Given the description of an element on the screen output the (x, y) to click on. 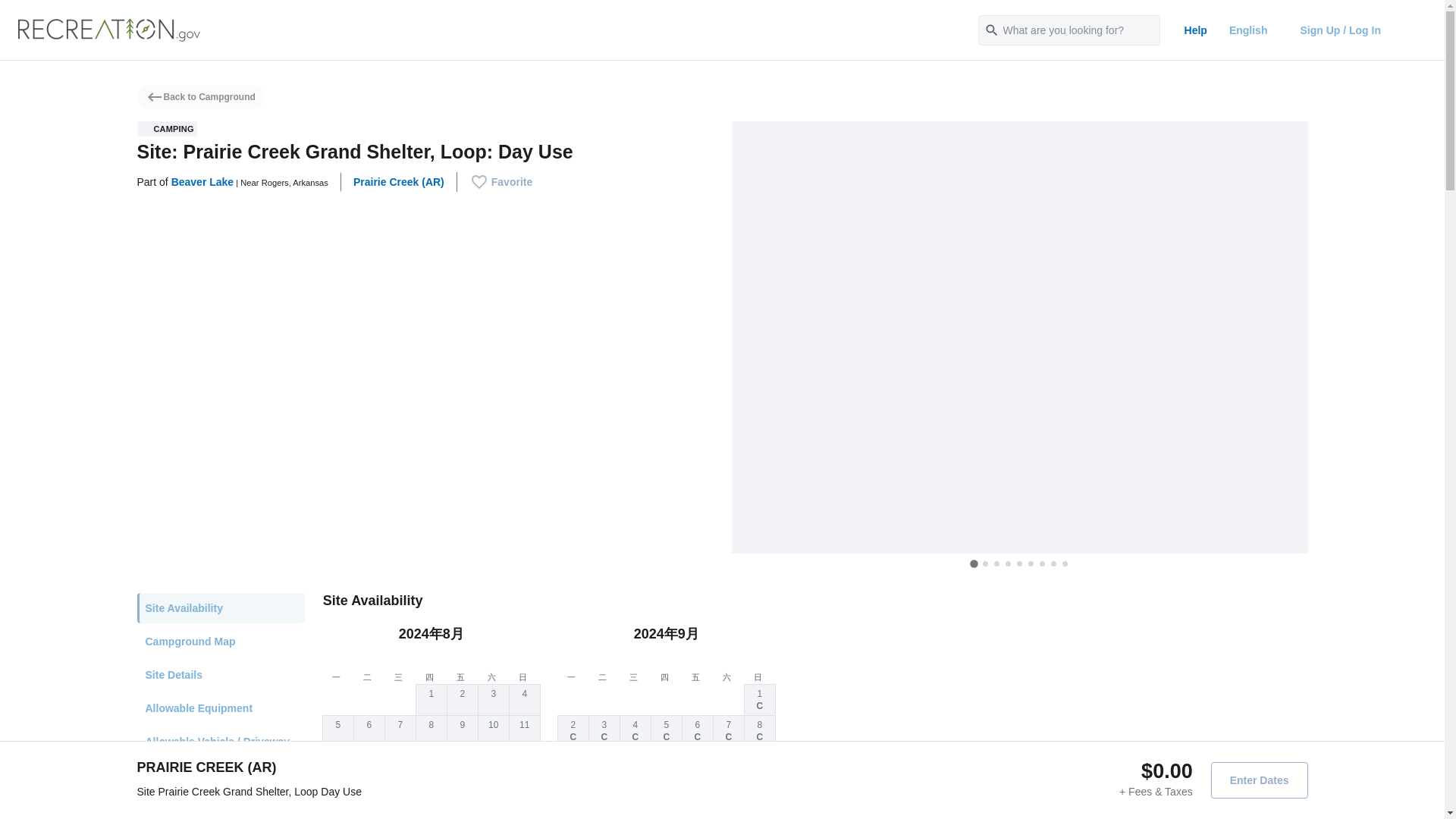
Help (1194, 30)
Need to Know (220, 815)
Site Availability (220, 607)
Back to Campground (199, 96)
Photo 6 (1030, 563)
Beaver Lake (202, 182)
Photo 8 (1054, 563)
